Given the description of an element on the screen output the (x, y) to click on. 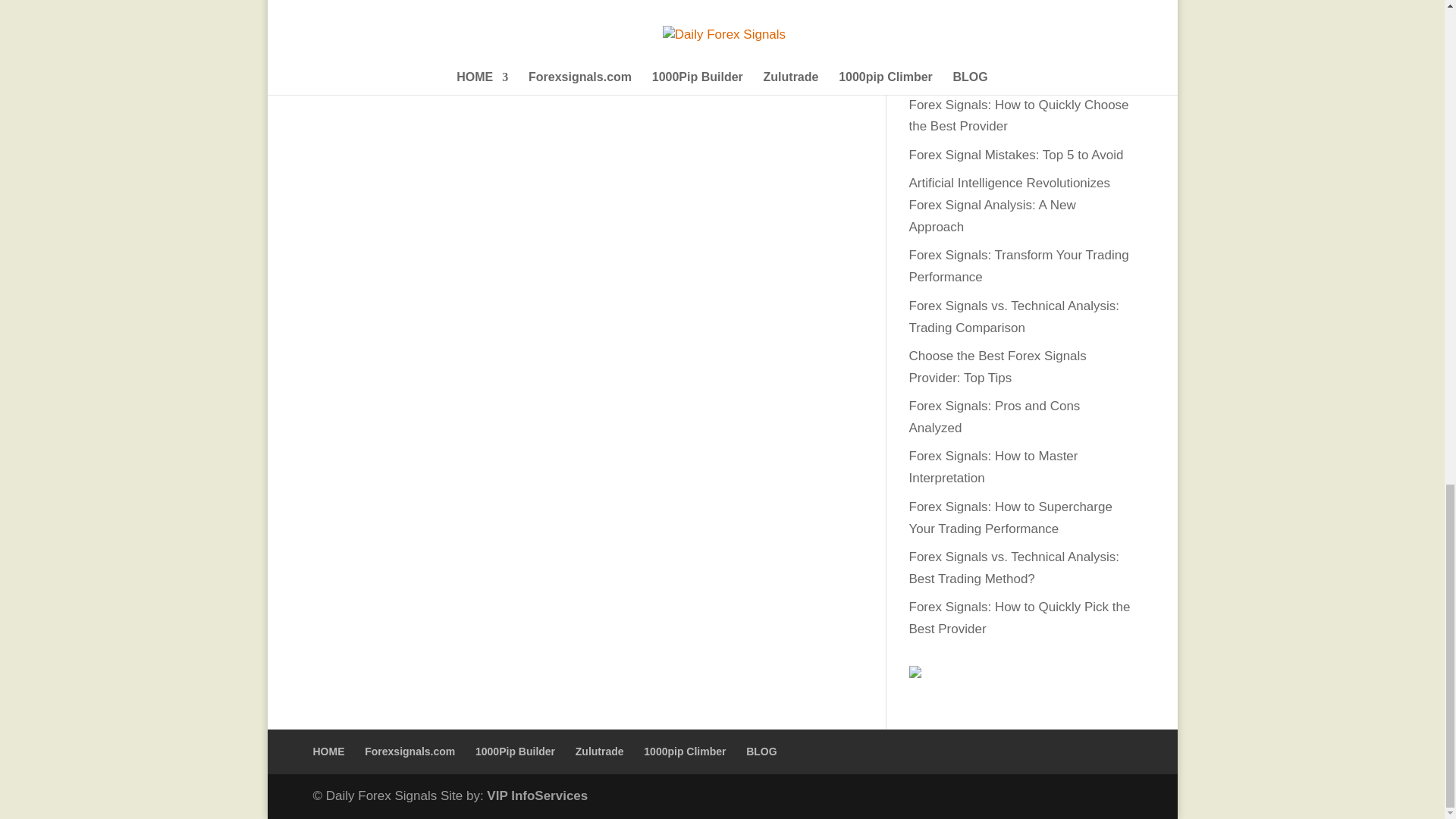
Forex Signals vs. Technical Analysis: Best Trading Method? (1013, 567)
Forex Signals vs. Technical Analysis: Trading Comparison (1013, 316)
Forex Signals: How to Supercharge Your Trading Performance (1010, 517)
Forex Signals vs. Technical Analysis: Which is Better? (1013, 64)
Forex Signals: How to Quickly Pick the Best Provider (1018, 617)
Forex Signals: How to Quickly Choose the Best Provider (1018, 115)
Forex Signals: How to Master Interpretation (992, 466)
Forex Signal Mistakes: Top 5 to Avoid (1015, 155)
Forex Signals: Pros and Cons Analyzed (994, 416)
